Given the description of an element on the screen output the (x, y) to click on. 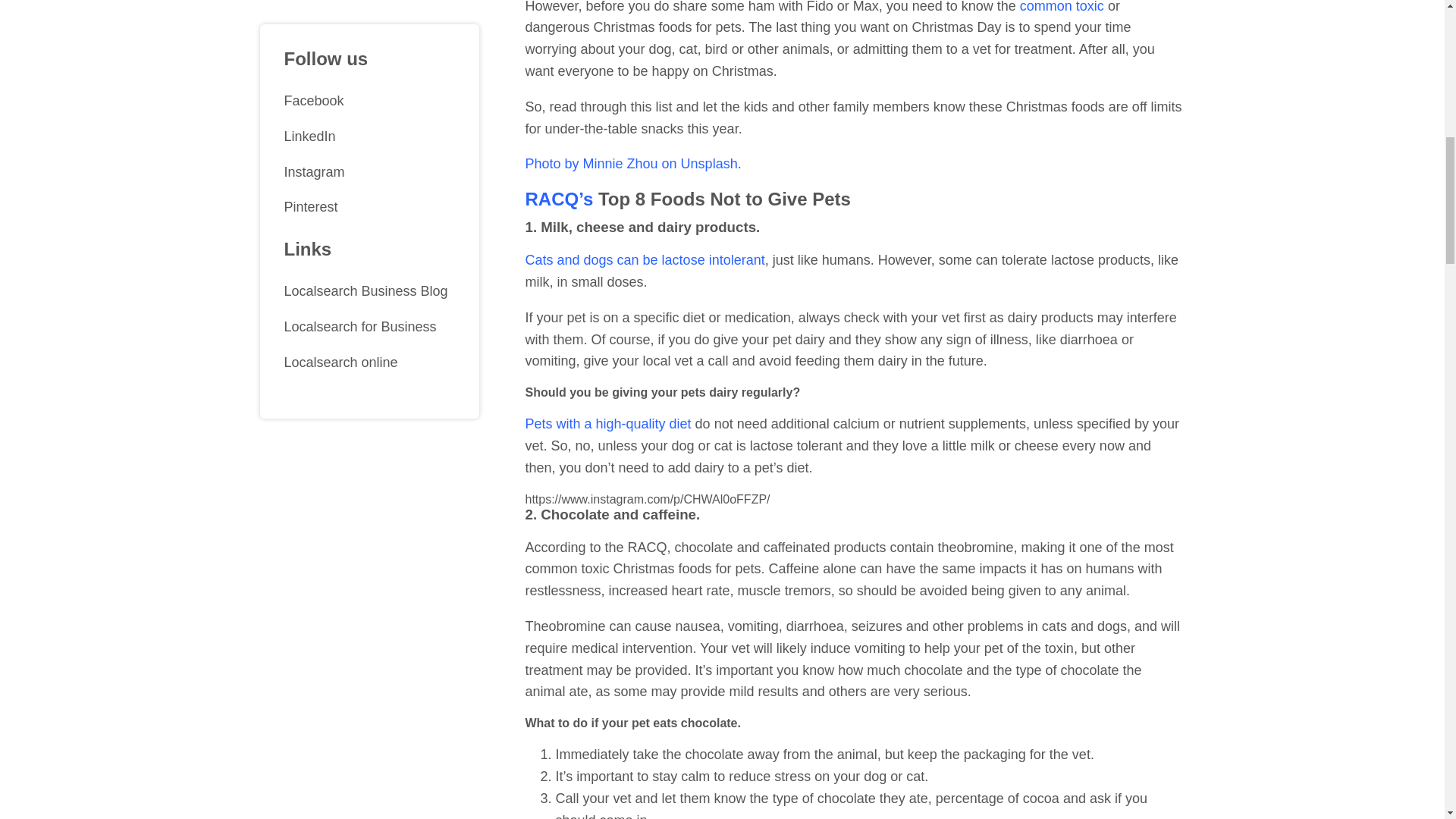
Facebook (368, 9)
LinkedIn (368, 36)
Pinterest (368, 107)
Cats and dogs can be lactose intolerant (644, 259)
Localsearch Business Blog (368, 191)
Pets with a high-quality diet (607, 423)
common toxic (1059, 6)
Photo by Minnie Zhou on Unsplash (630, 163)
Instagram (368, 72)
